Given the description of an element on the screen output the (x, y) to click on. 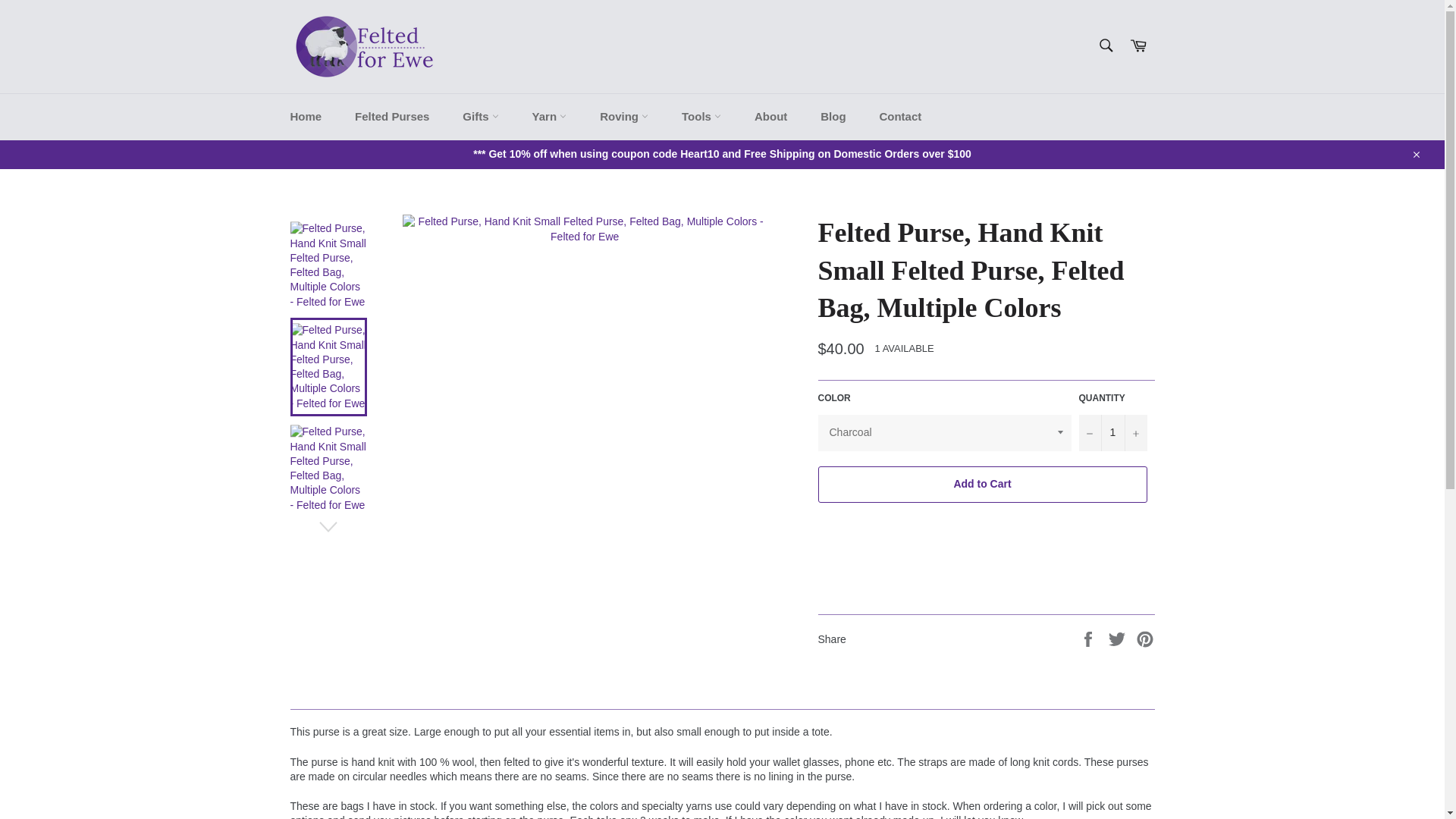
Felted Purses (391, 117)
Search (1104, 45)
Pin on Pinterest (1144, 638)
Gifts (479, 117)
Cart (1138, 46)
Home (305, 117)
Share on Facebook (1089, 638)
Tweet on Twitter (1118, 638)
1 (1112, 432)
